Given the description of an element on the screen output the (x, y) to click on. 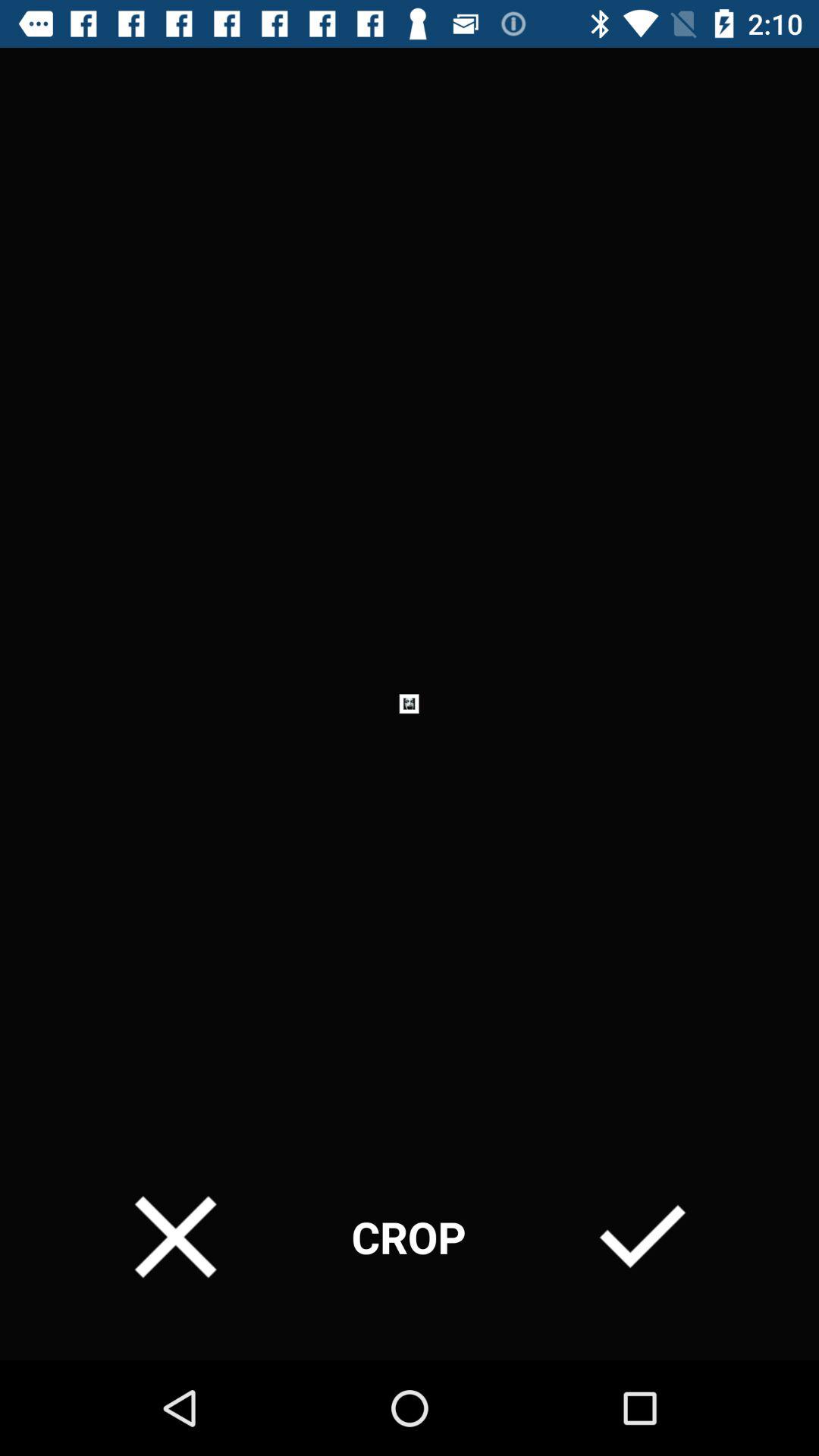
launch the icon next to crop item (175, 1236)
